Given the description of an element on the screen output the (x, y) to click on. 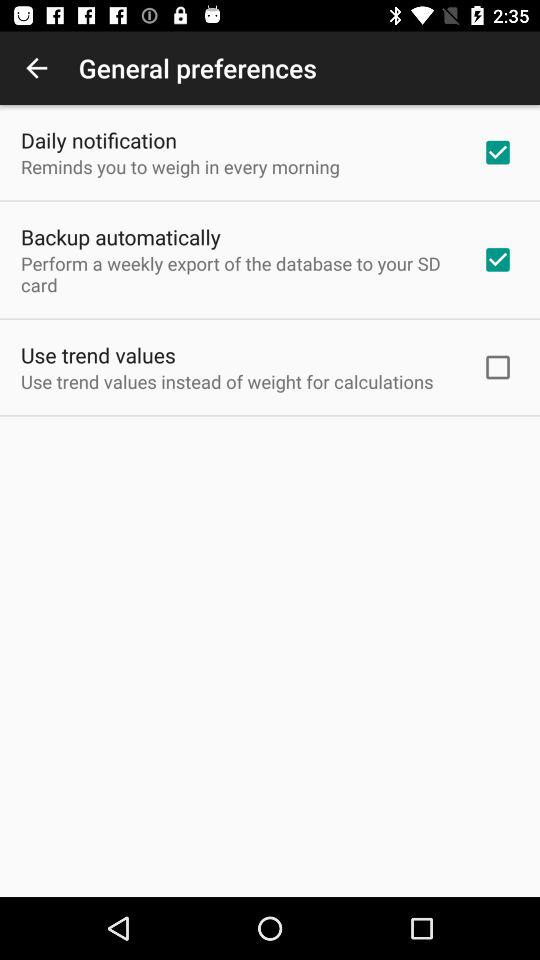
flip to reminds you to icon (180, 166)
